Given the description of an element on the screen output the (x, y) to click on. 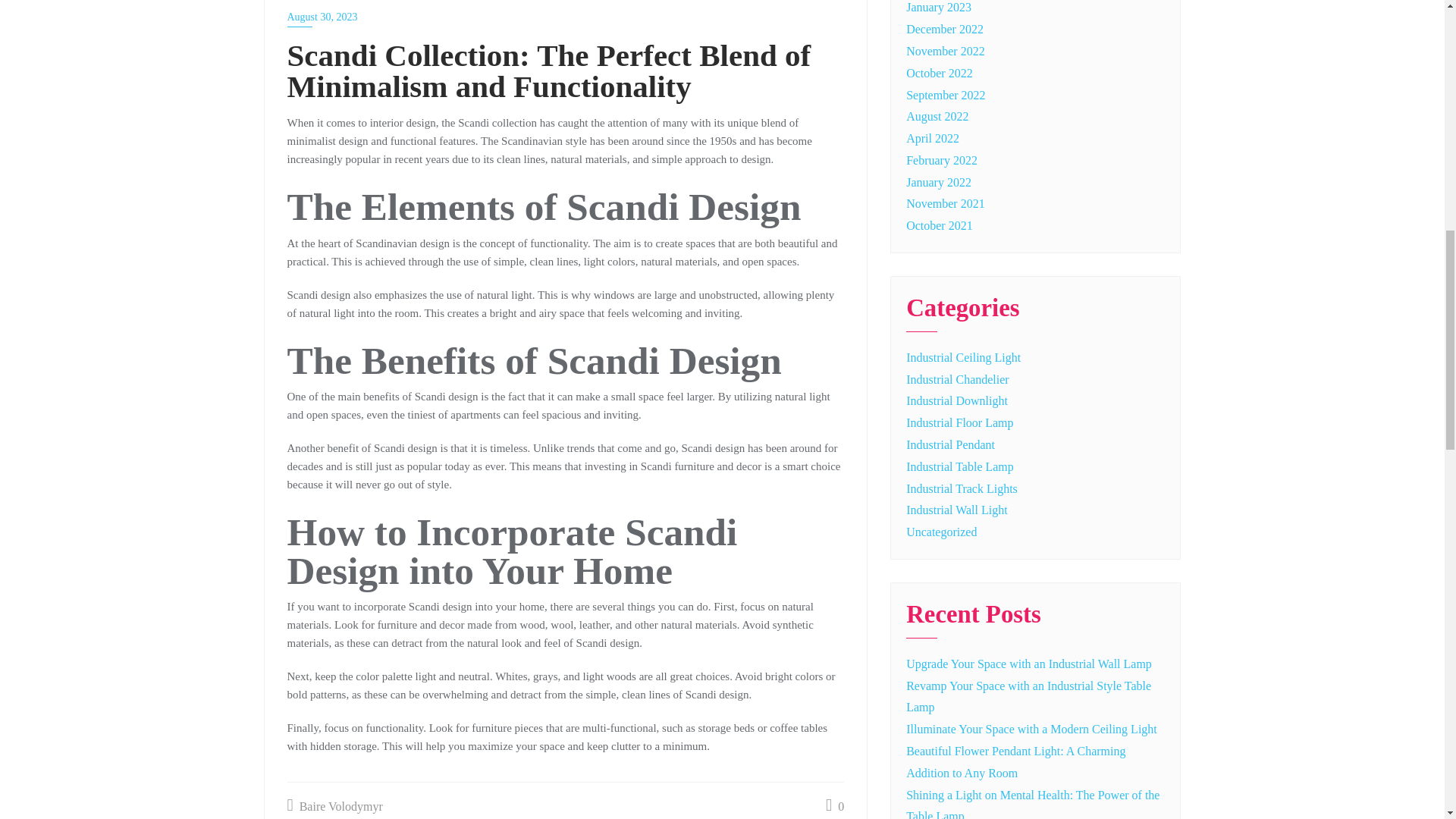
August 30, 2023 (565, 16)
December 2022 (944, 29)
January 2023 (938, 6)
Baire Volodymyr (333, 807)
